Given the description of an element on the screen output the (x, y) to click on. 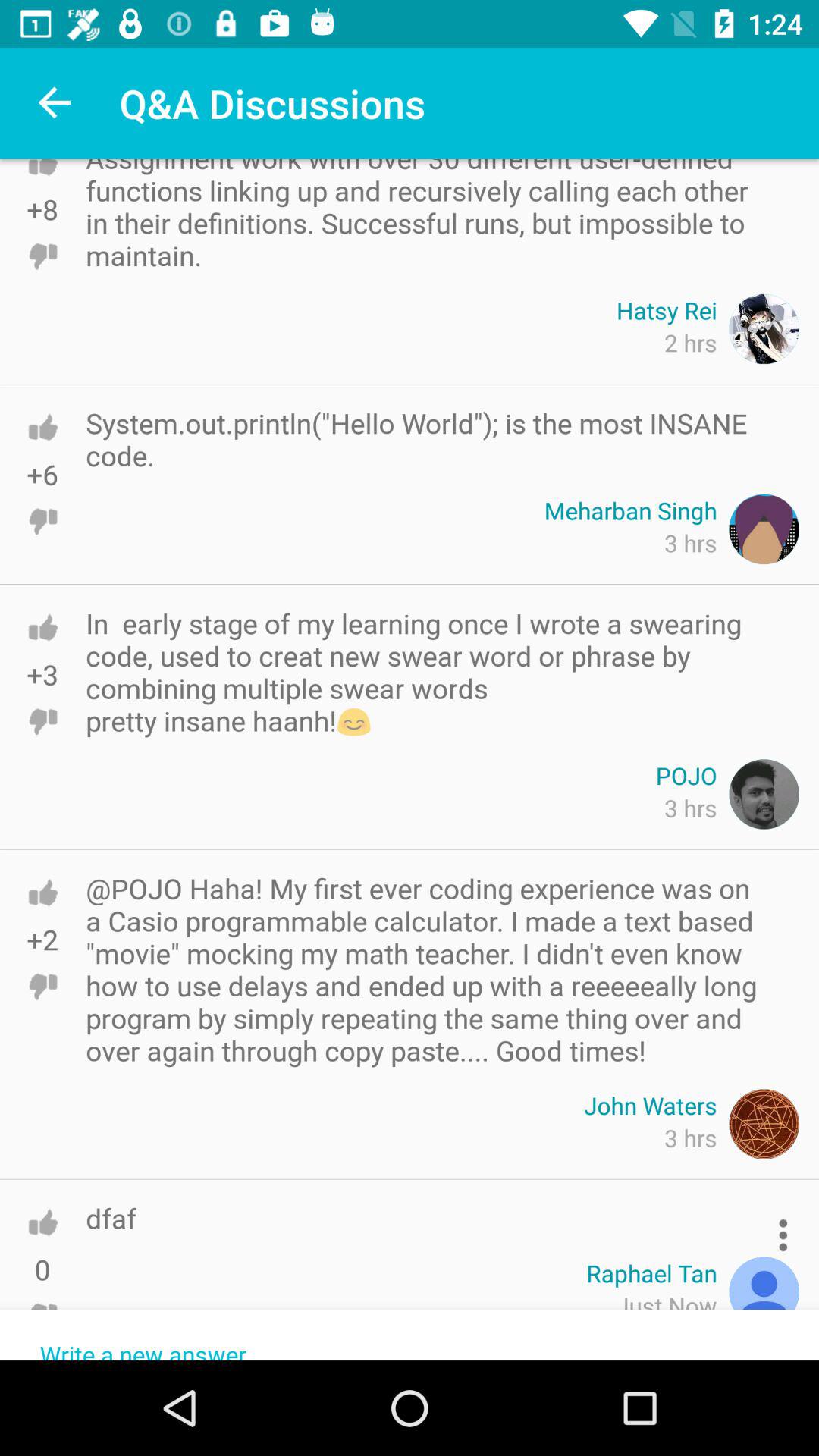
downvote (42, 256)
